Given the description of an element on the screen output the (x, y) to click on. 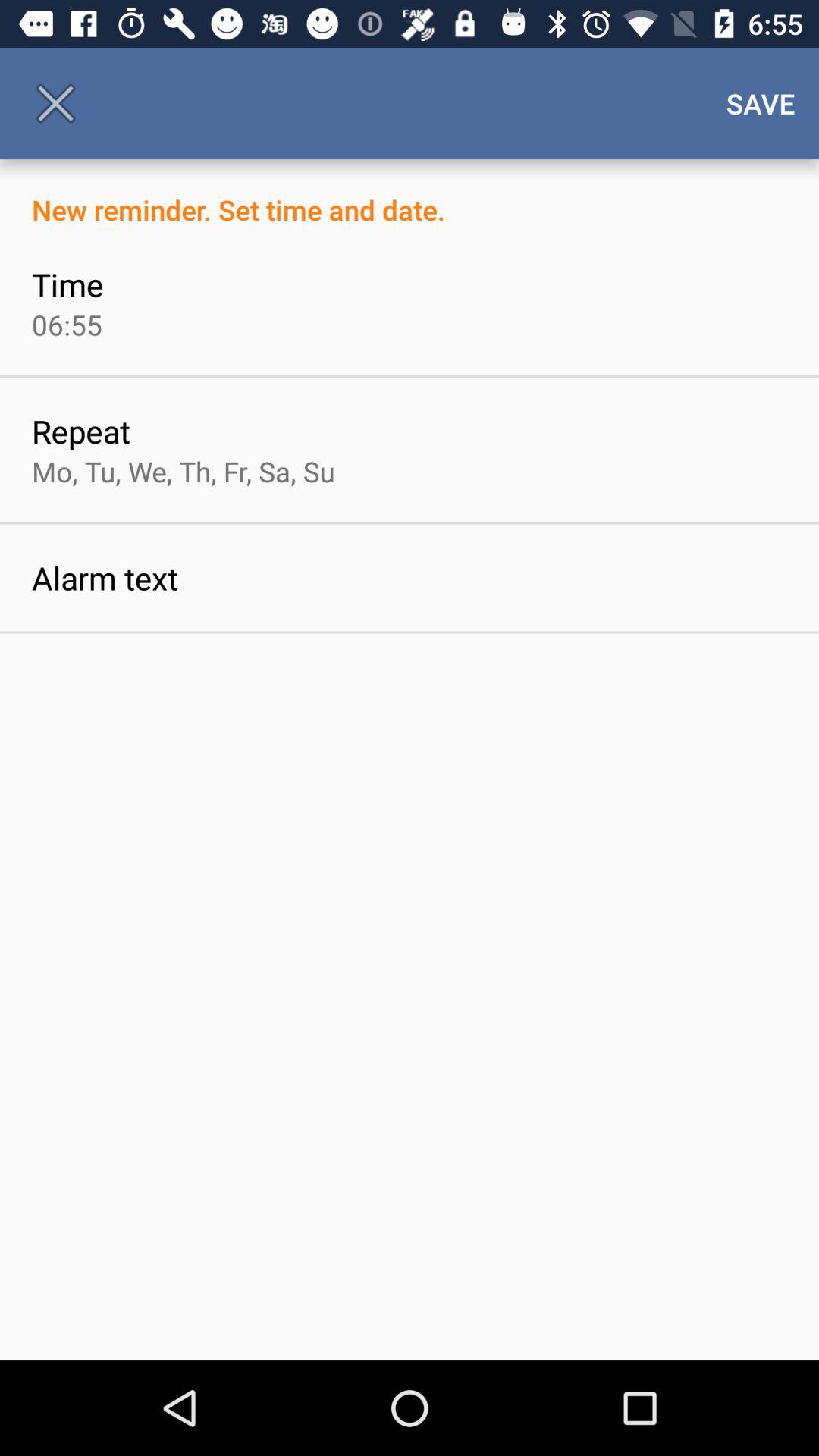
flip to save (760, 103)
